Given the description of an element on the screen output the (x, y) to click on. 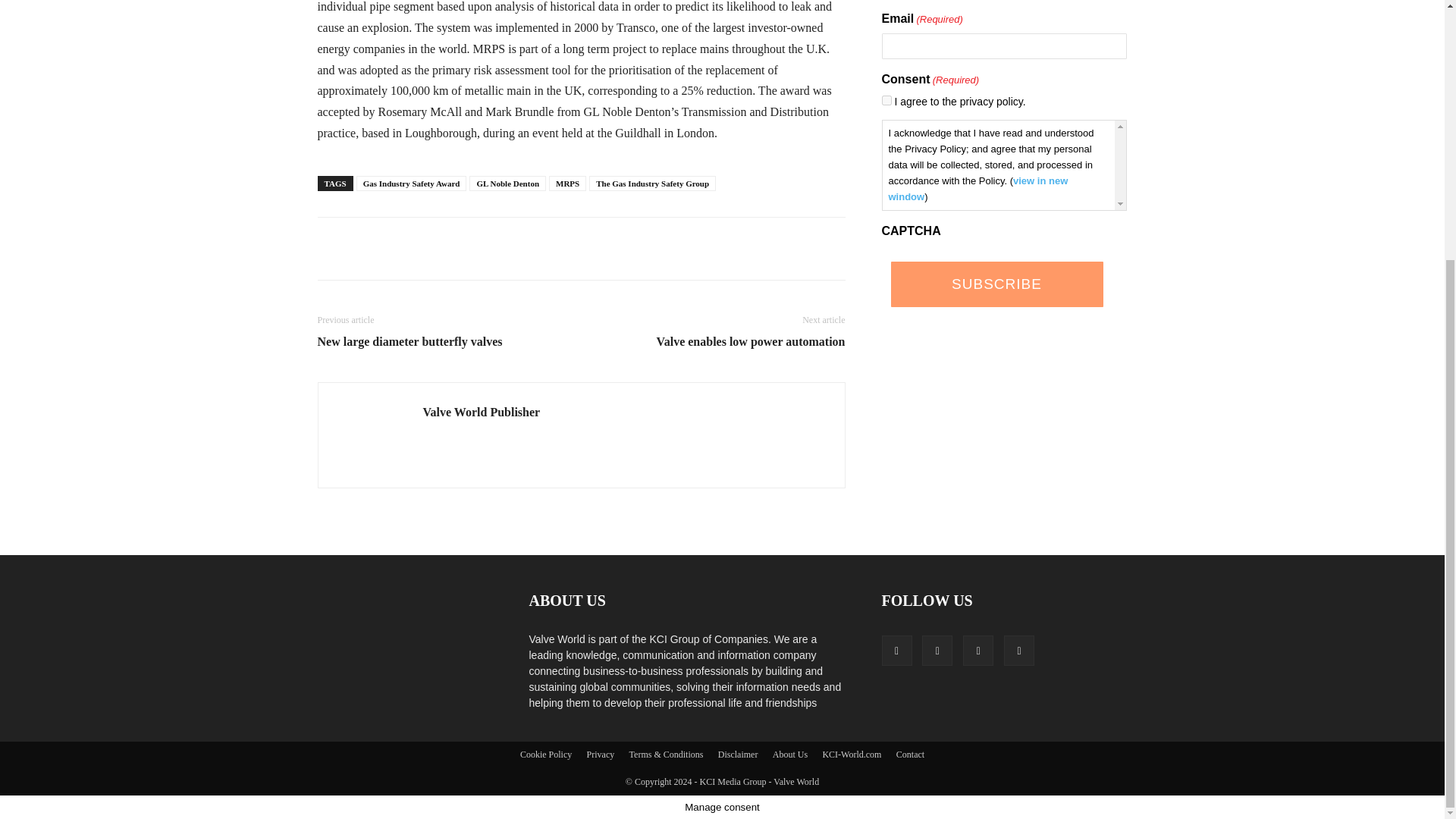
1 (885, 100)
Linkedin (936, 650)
RSS (977, 650)
SUBSCRIBE (995, 284)
Facebook (895, 650)
